Given the description of an element on the screen output the (x, y) to click on. 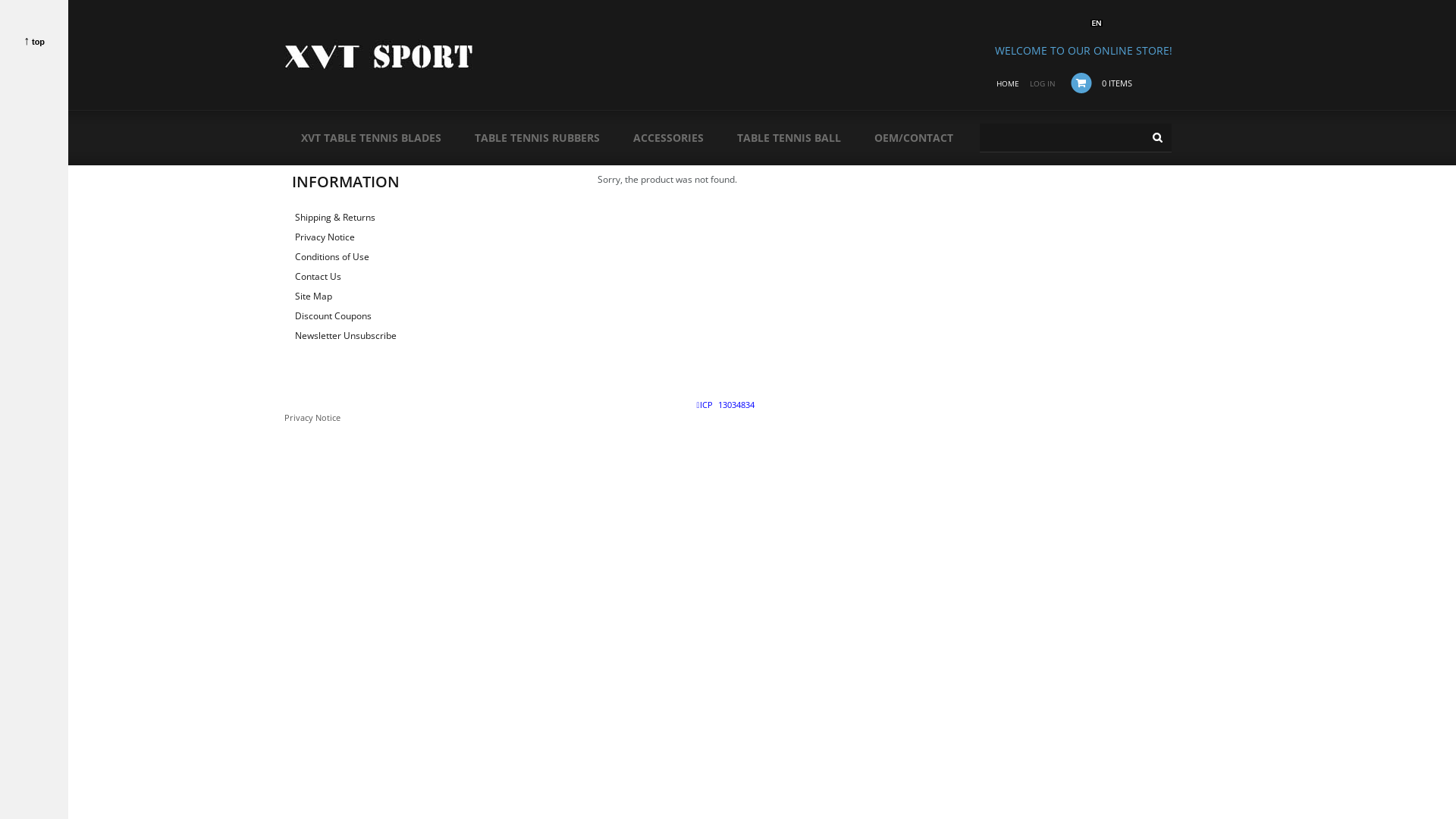
 English  Element type: hover (1096, 22)
Search Element type: text (1156, 137)
OEM/CONTACT Element type: text (912, 138)
TABLE TENNIS BALL Element type: text (788, 138)
HOME Element type: text (1007, 82)
0 ITEMS Element type: text (1116, 82)
TABLE TENNIS RUBBERS Element type: text (537, 138)
LOG IN Element type: text (1042, 82)
Site Map Element type: text (312, 295)
Privacy Notice Element type: text (311, 417)
ACCESSORIES Element type: text (667, 138)
Conditions of Use Element type: text (331, 256)
Newsletter Unsubscribe Element type: text (344, 335)
Contact Us Element type: text (317, 275)
Shipping & Returns Element type: text (334, 216)
Privacy Notice Element type: text (324, 236)
XVT TABLE TENNIS BLADES Element type: text (370, 138)
Discount Coupons Element type: text (332, 315)
